Given the description of an element on the screen output the (x, y) to click on. 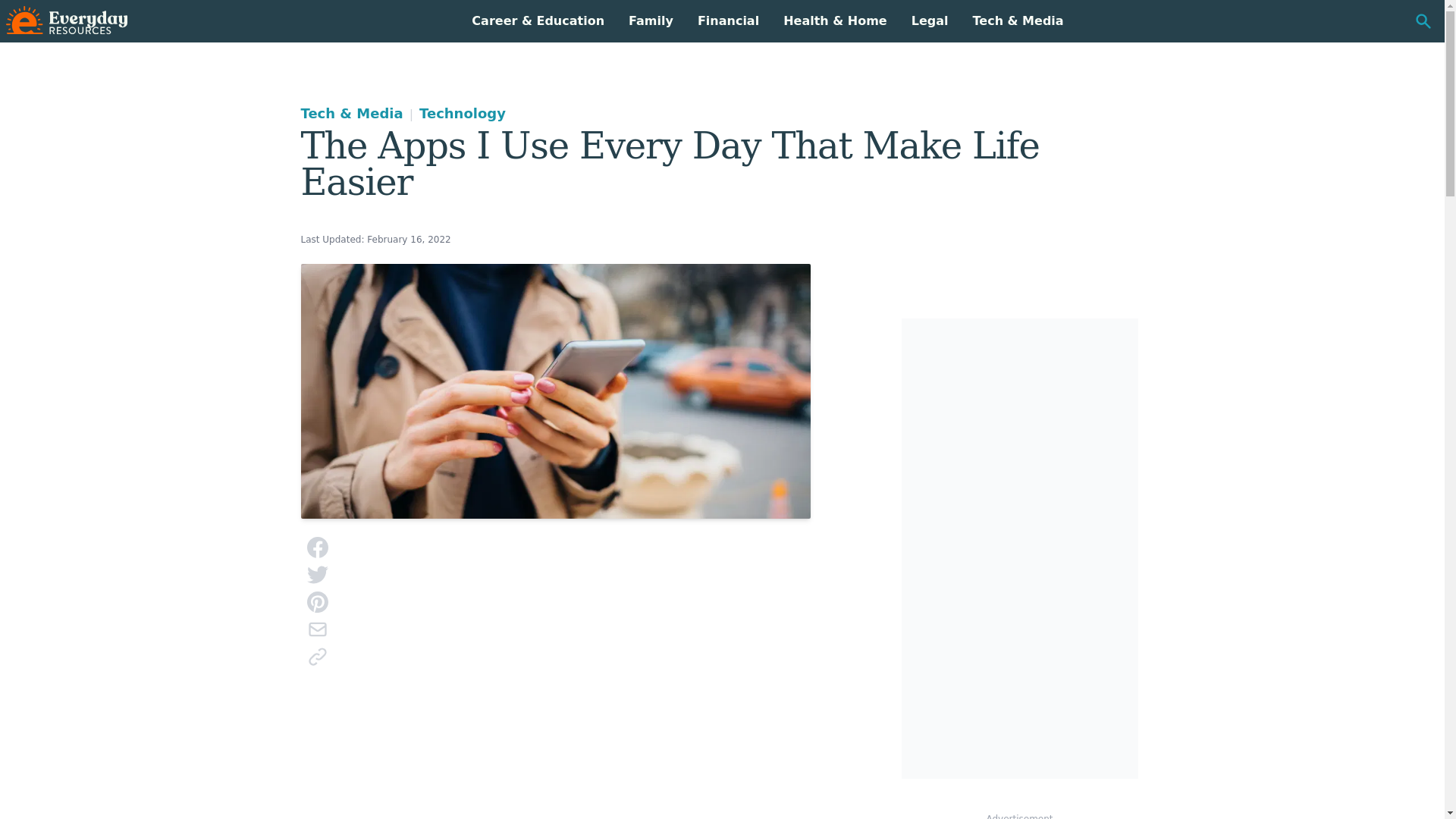
Email This Link (316, 629)
Share on Twitter (316, 574)
Technology (462, 113)
Financial (728, 19)
Share on Facebook (316, 547)
Copy Link (316, 656)
Pin This (316, 601)
Copy Link (316, 656)
Pin on Pinterest (316, 601)
Legal (929, 19)
Email This Link (316, 629)
Share on Facebook (316, 547)
Family (650, 19)
Share on Twitter (316, 574)
Advertisement (585, 674)
